Given the description of an element on the screen output the (x, y) to click on. 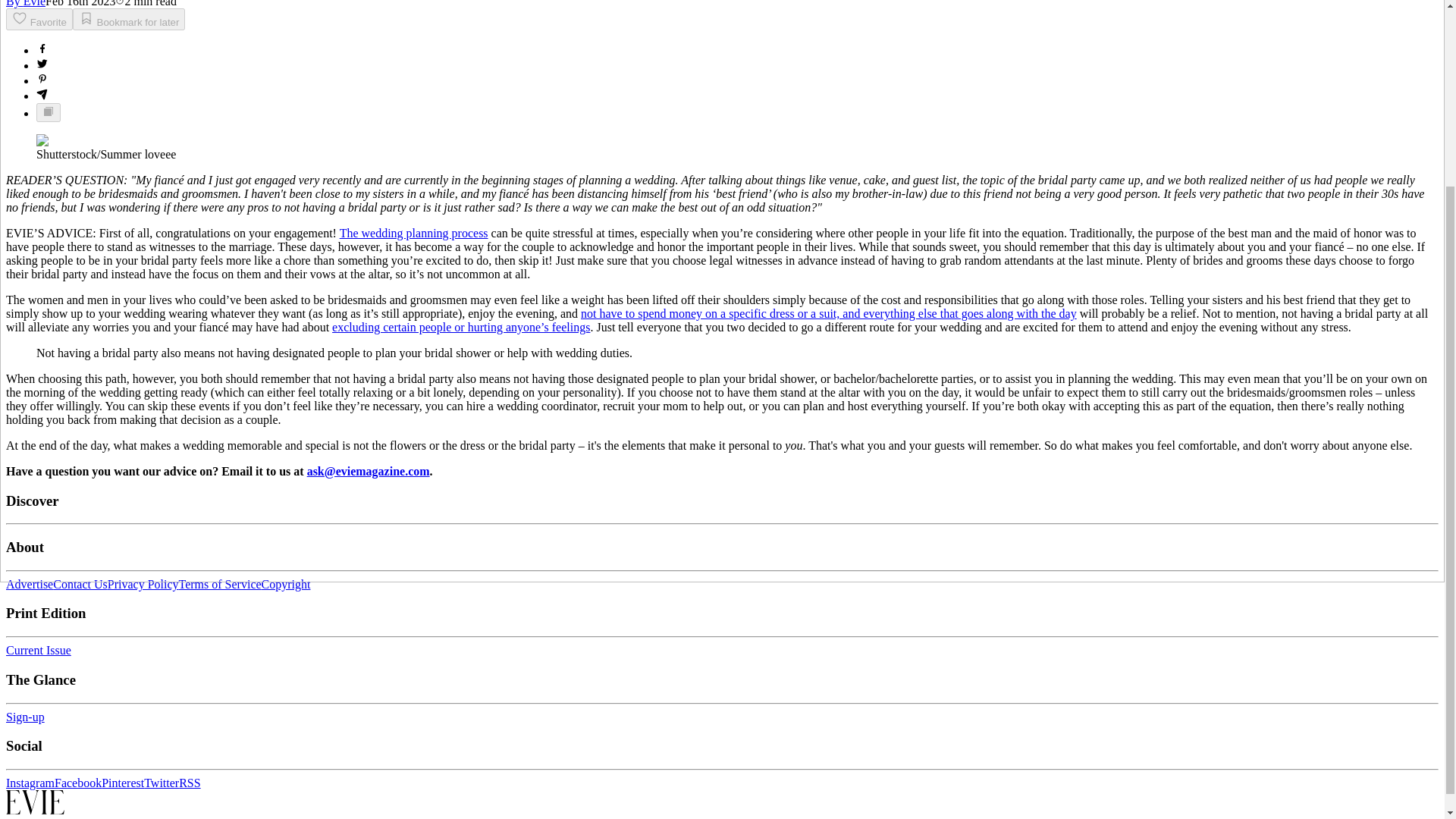
By Evie (25, 3)
Twitter (161, 782)
Advertise (28, 584)
Privacy Policy (143, 584)
Facebook (78, 782)
Current Issue (38, 649)
Copyright (286, 584)
The wedding planning process (413, 232)
Favorite (38, 19)
RSS (189, 782)
Sign-up (25, 716)
Contact Us (79, 584)
Bookmark for later (129, 19)
Instagram (30, 782)
